Given the description of an element on the screen output the (x, y) to click on. 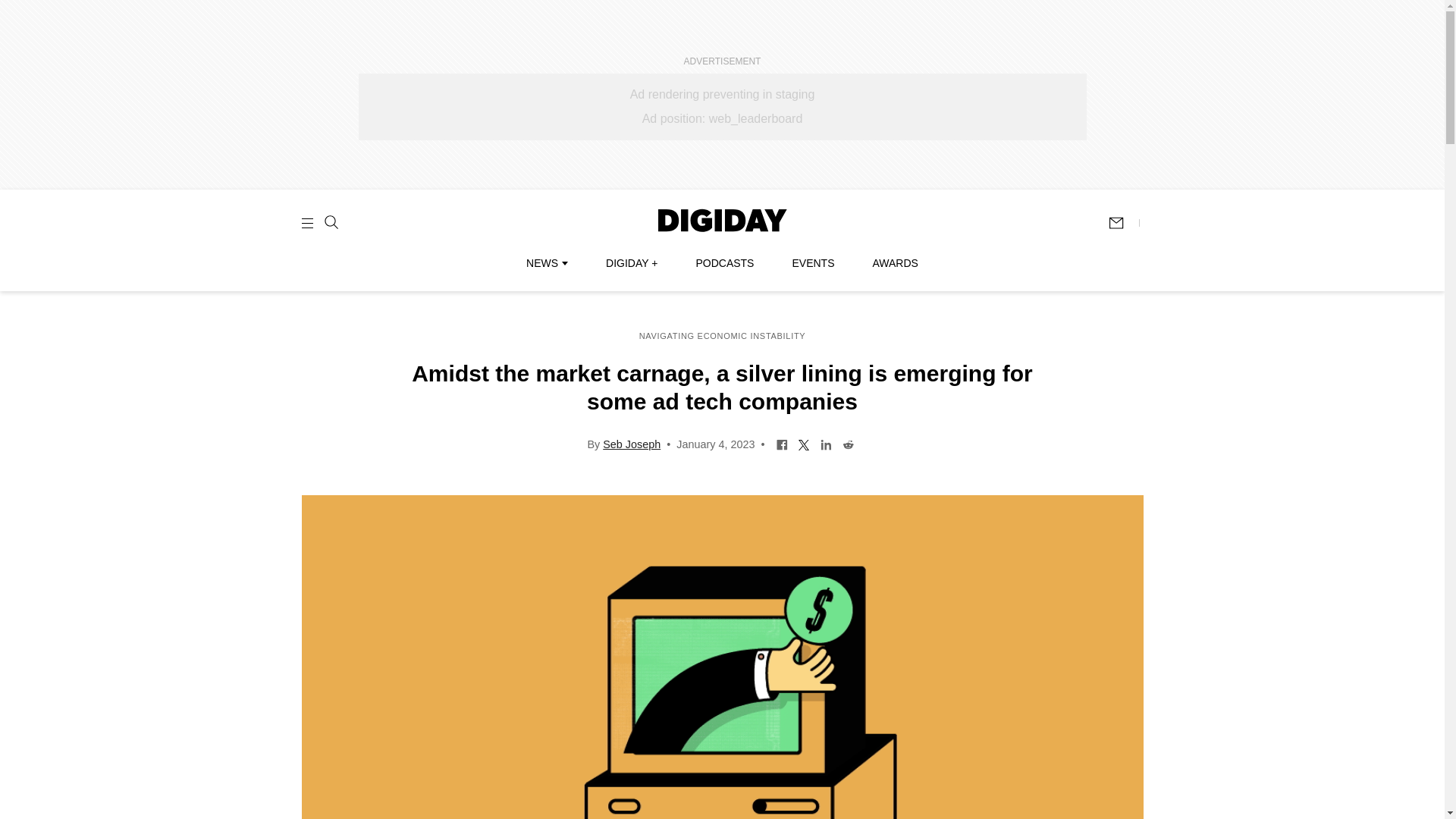
Share on LinkedIn (825, 443)
NEWS (546, 262)
EVENTS (813, 262)
Share on Facebook (782, 443)
PODCASTS (725, 262)
Share on Reddit (847, 443)
AWARDS (894, 262)
Share on Twitter (803, 443)
Subscribe (1123, 223)
